Given the description of an element on the screen output the (x, y) to click on. 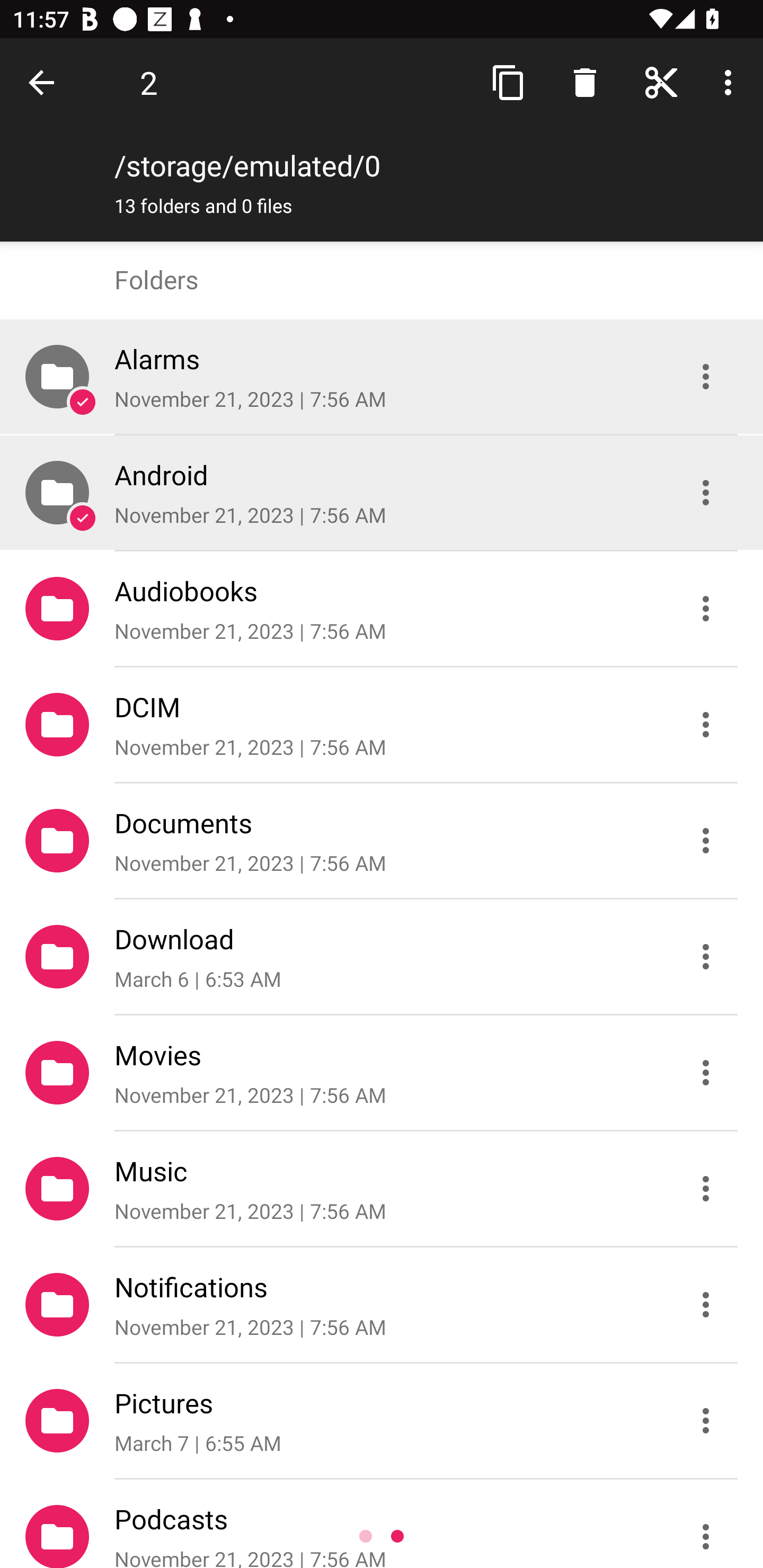
2 (148, 82)
Done (44, 81)
Copy (508, 81)
Search (585, 81)
Home (661, 81)
More options (731, 81)
Alarms November 21, 2023 | 7:56 AM (381, 376)
Android November 21, 2023 | 7:56 AM (381, 492)
Audiobooks November 21, 2023 | 7:56 AM (381, 608)
DCIM November 21, 2023 | 7:56 AM (381, 724)
Documents November 21, 2023 | 7:56 AM (381, 841)
Download March 6 | 6:53 AM (381, 957)
Movies November 21, 2023 | 7:56 AM (381, 1073)
Music November 21, 2023 | 7:56 AM (381, 1189)
Notifications November 21, 2023 | 7:56 AM (381, 1305)
Pictures March 7 | 6:55 AM (381, 1421)
Podcasts November 21, 2023 | 7:56 AM (381, 1524)
